Given the description of an element on the screen output the (x, y) to click on. 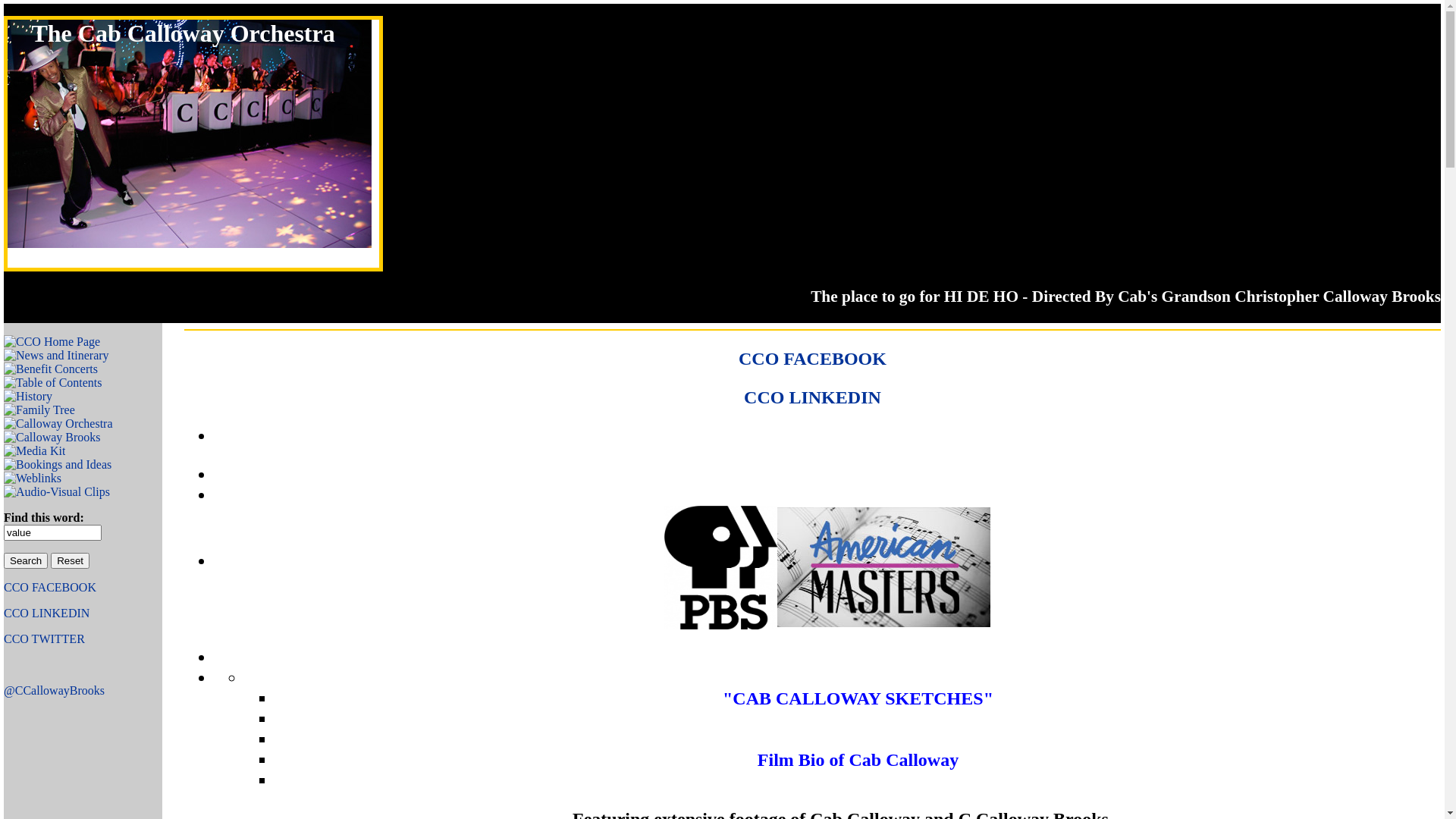
CCO LINKEDIN Element type: text (46, 612)
CCO FACEBOOK Element type: text (49, 586)
@CCallowayBrooks Element type: text (53, 690)
CCO LINKEDIN Element type: text (812, 397)
CCO TWITTER Element type: text (43, 638)
CCO FACEBOOK Element type: text (812, 358)
Search Element type: text (25, 560)
